Given the description of an element on the screen output the (x, y) to click on. 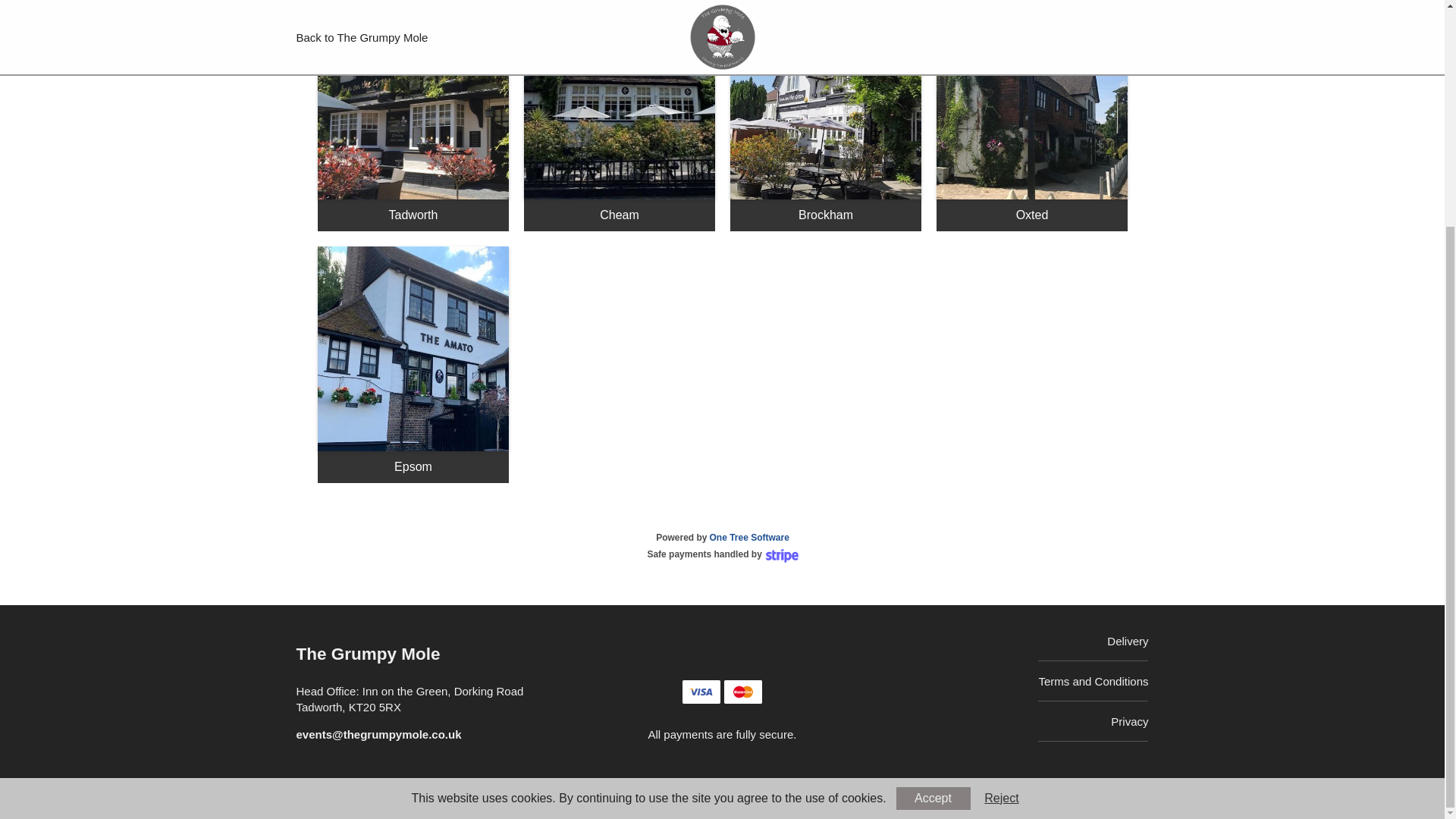
Delivery (1127, 640)
Privacy (1129, 721)
Reject (1002, 495)
Accept (933, 495)
Terms and Conditions (1093, 680)
